Given the description of an element on the screen output the (x, y) to click on. 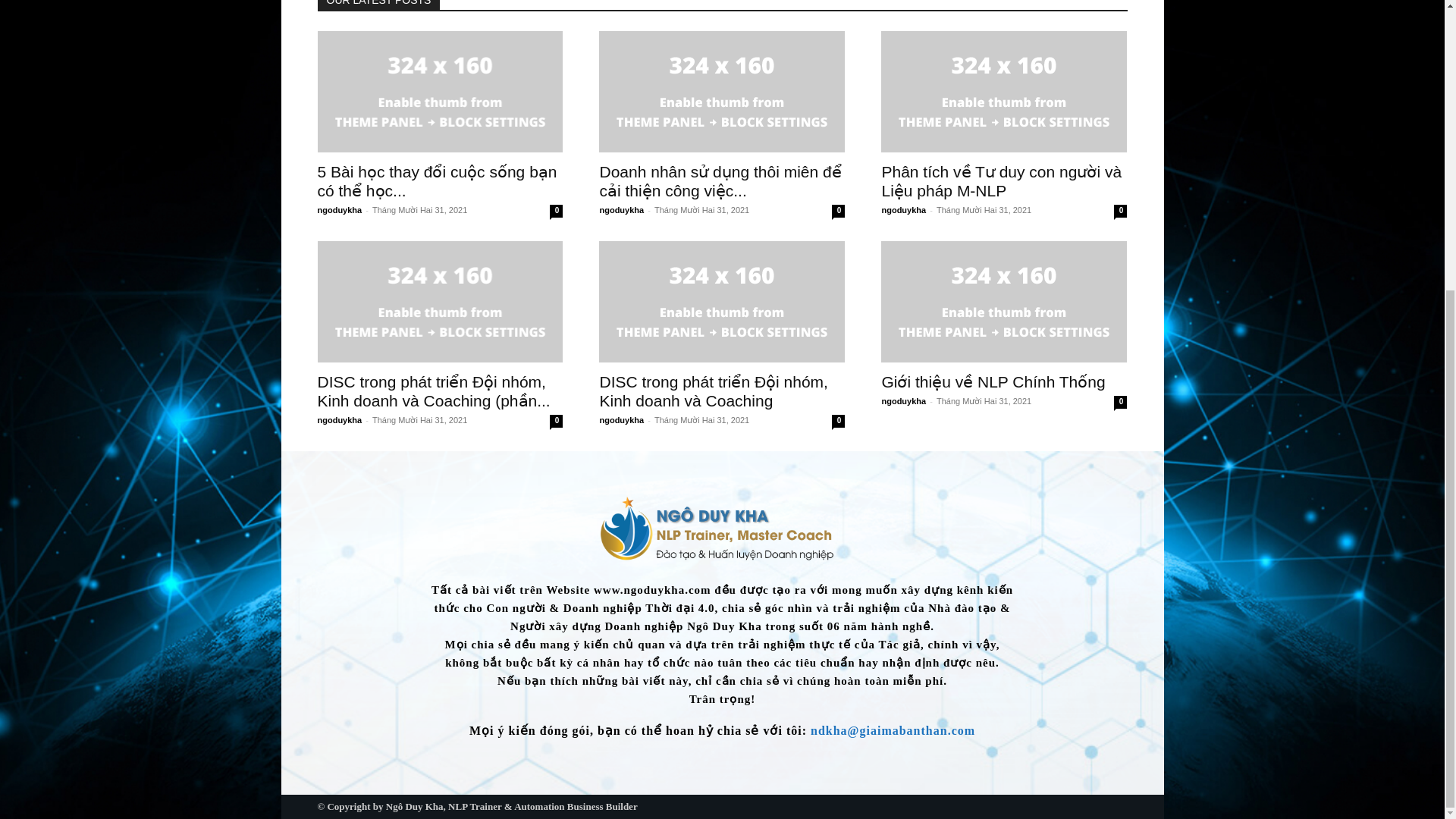
ngo-duy-kha-logo (721, 530)
